Given the description of an element on the screen output the (x, y) to click on. 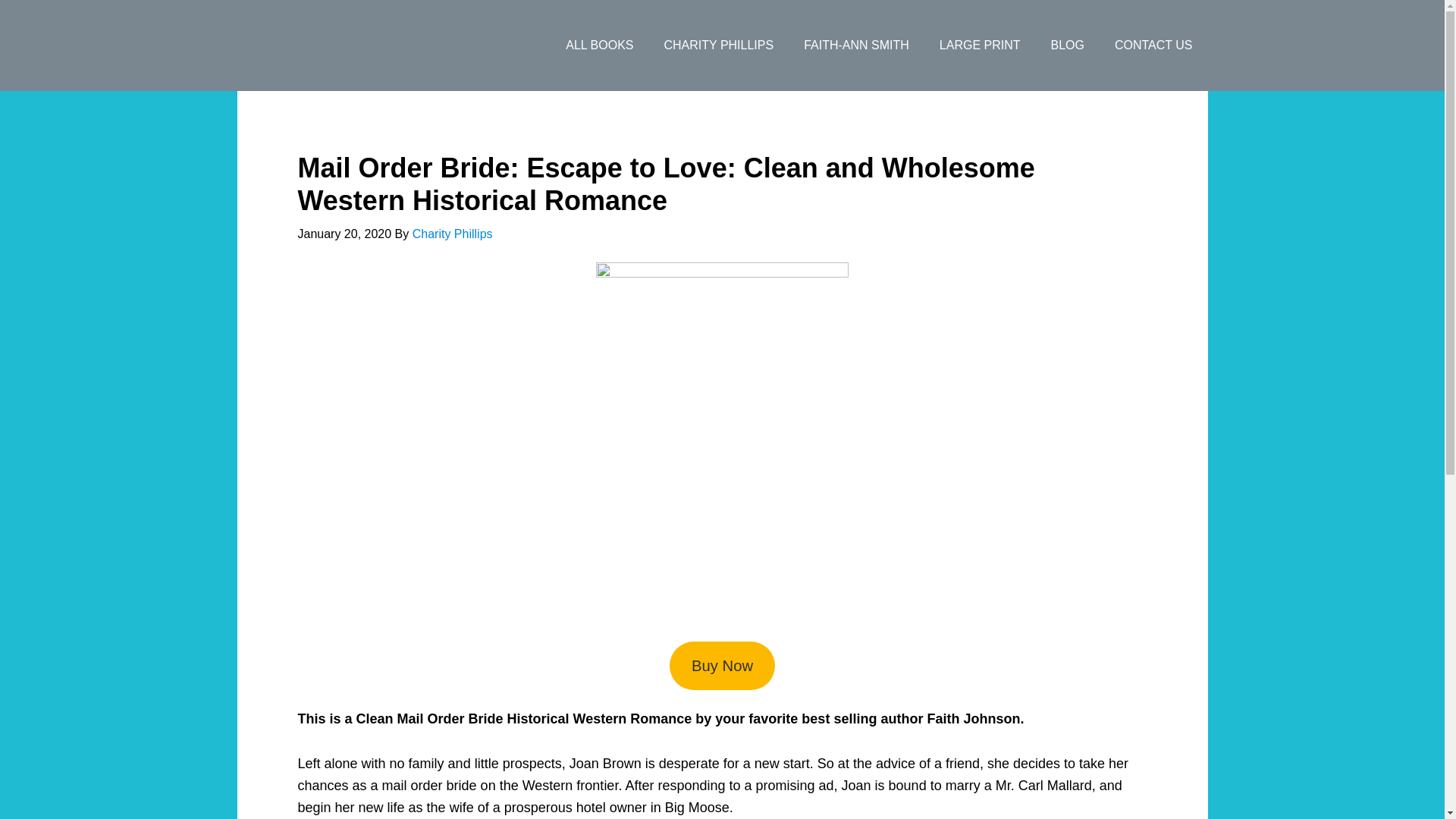
ALL BOOKS (598, 45)
Hope Meadow Publishing (357, 45)
LARGE PRINT (979, 45)
CHARITY PHILLIPS (719, 45)
Charity Phillips (452, 233)
CONTACT US (1153, 45)
Buy Now (721, 665)
FAITH-ANN SMITH (856, 45)
